Given the description of an element on the screen output the (x, y) to click on. 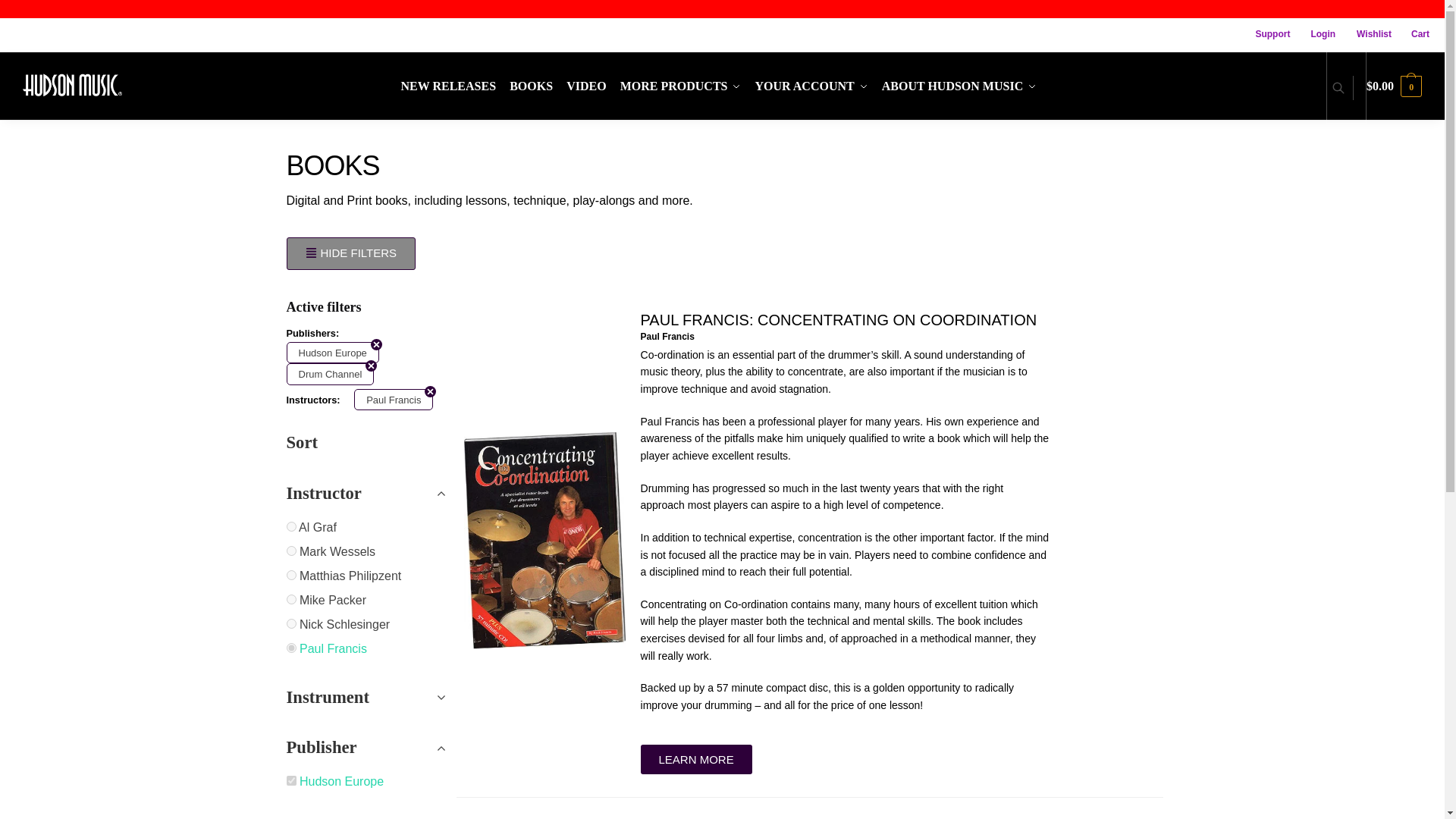
YOUR ACCOUNT (811, 86)
mark-wessels (291, 551)
View your shopping cart (1394, 85)
nick-schlesinger (291, 623)
al-graf (291, 526)
paul-francis (291, 647)
NEW RELEASES (451, 86)
Wishlist (1365, 34)
ABOUT HUDSON MUSIC (959, 86)
Login (1315, 34)
